Given the description of an element on the screen output the (x, y) to click on. 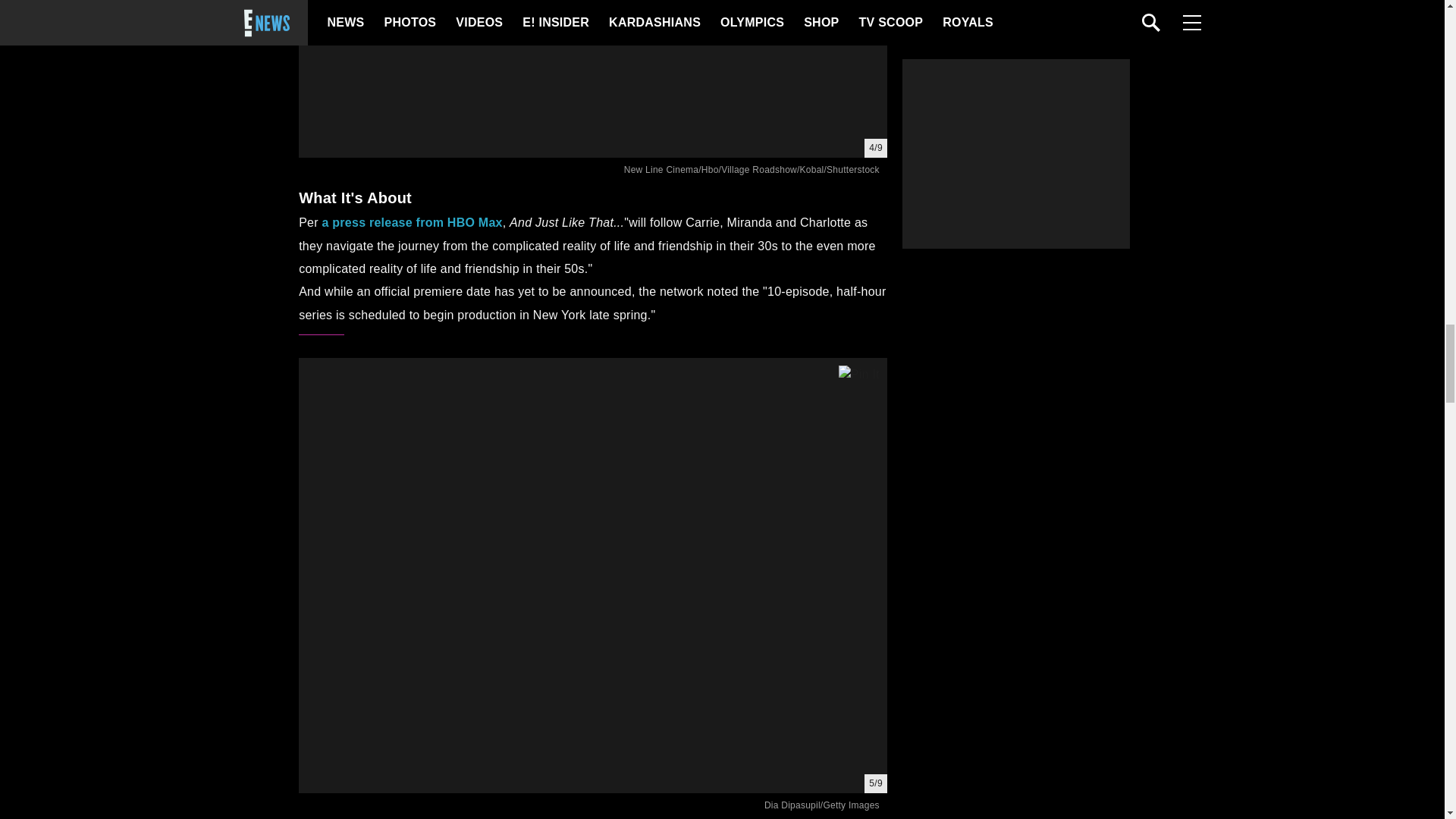
a press release from HBO Max (411, 222)
